Given the description of an element on the screen output the (x, y) to click on. 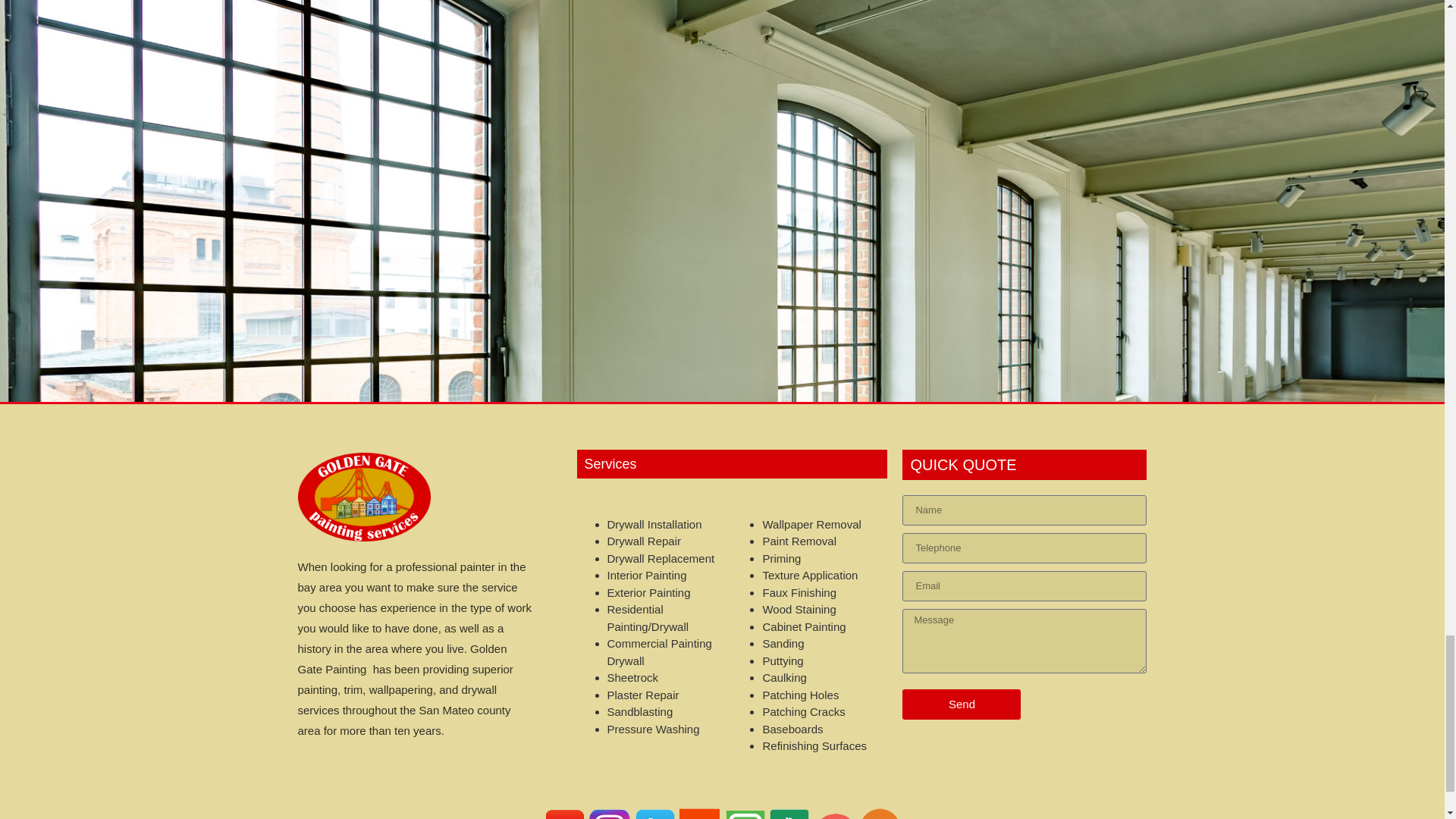
Send (961, 704)
